Given the description of an element on the screen output the (x, y) to click on. 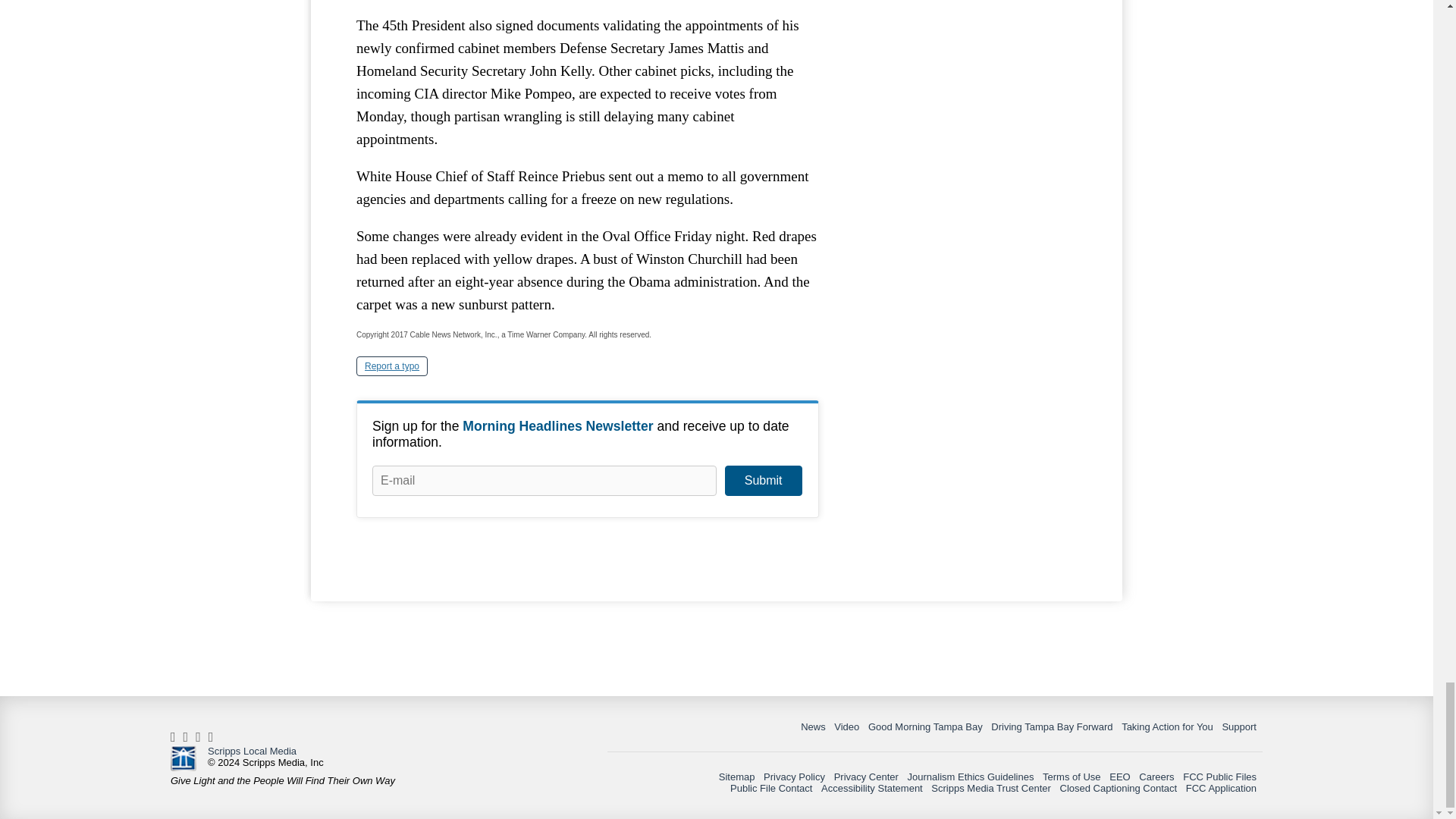
Submit (763, 481)
